Given the description of an element on the screen output the (x, y) to click on. 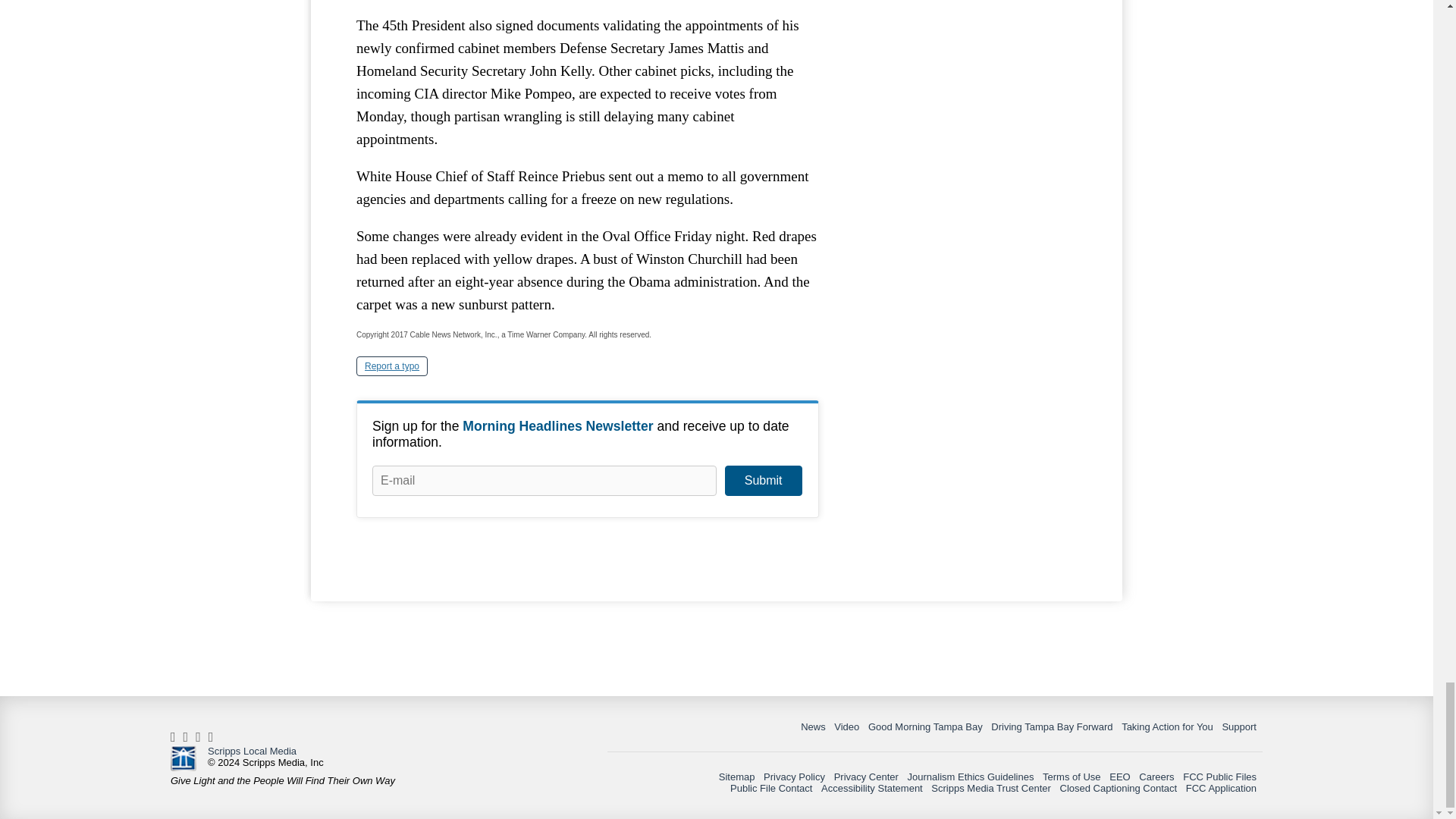
Submit (763, 481)
